Given the description of an element on the screen output the (x, y) to click on. 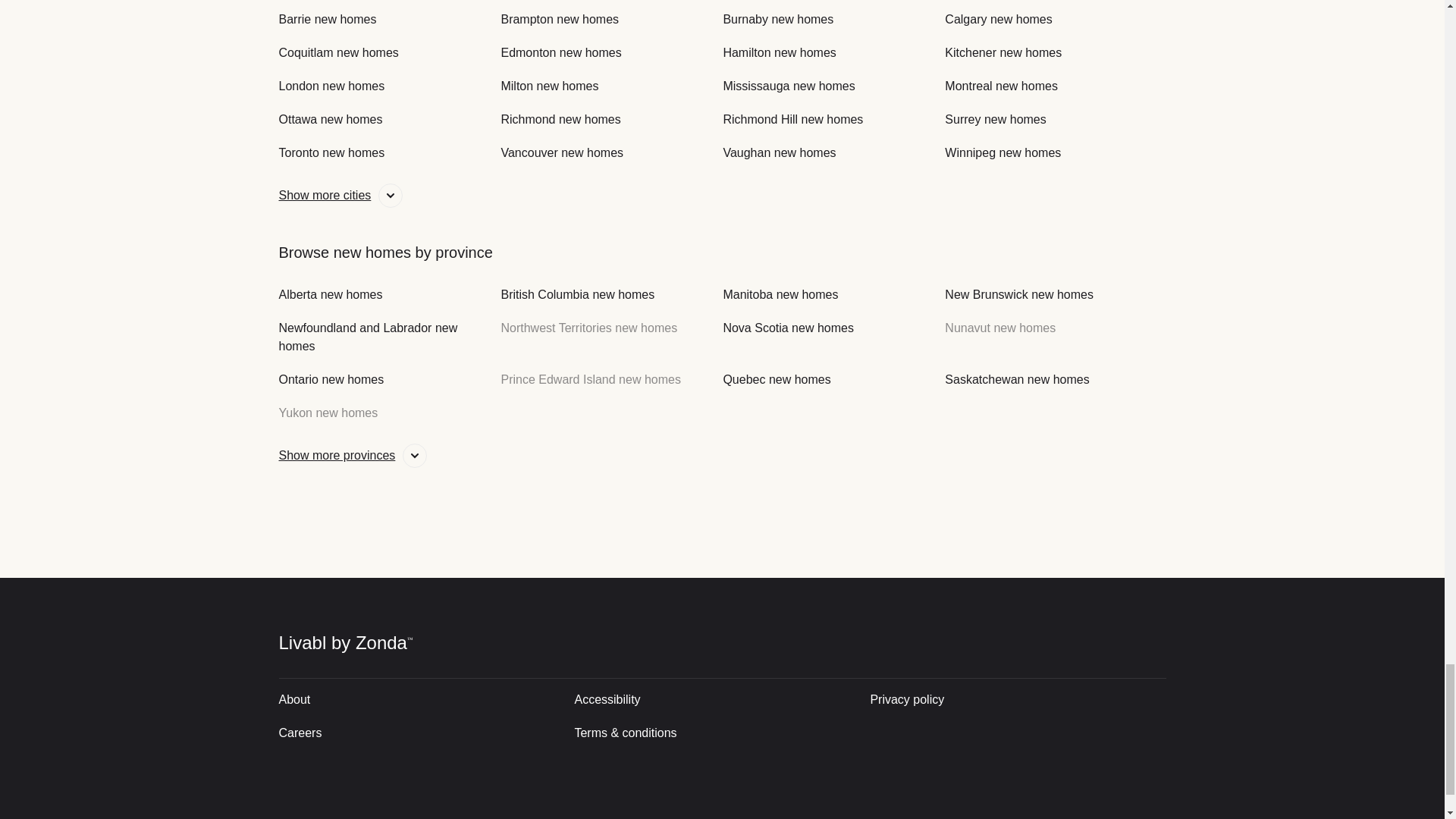
Instagram (1045, 815)
Twitter (991, 815)
Facebook (1098, 815)
Pinterest (1150, 815)
